Given the description of an element on the screen output the (x, y) to click on. 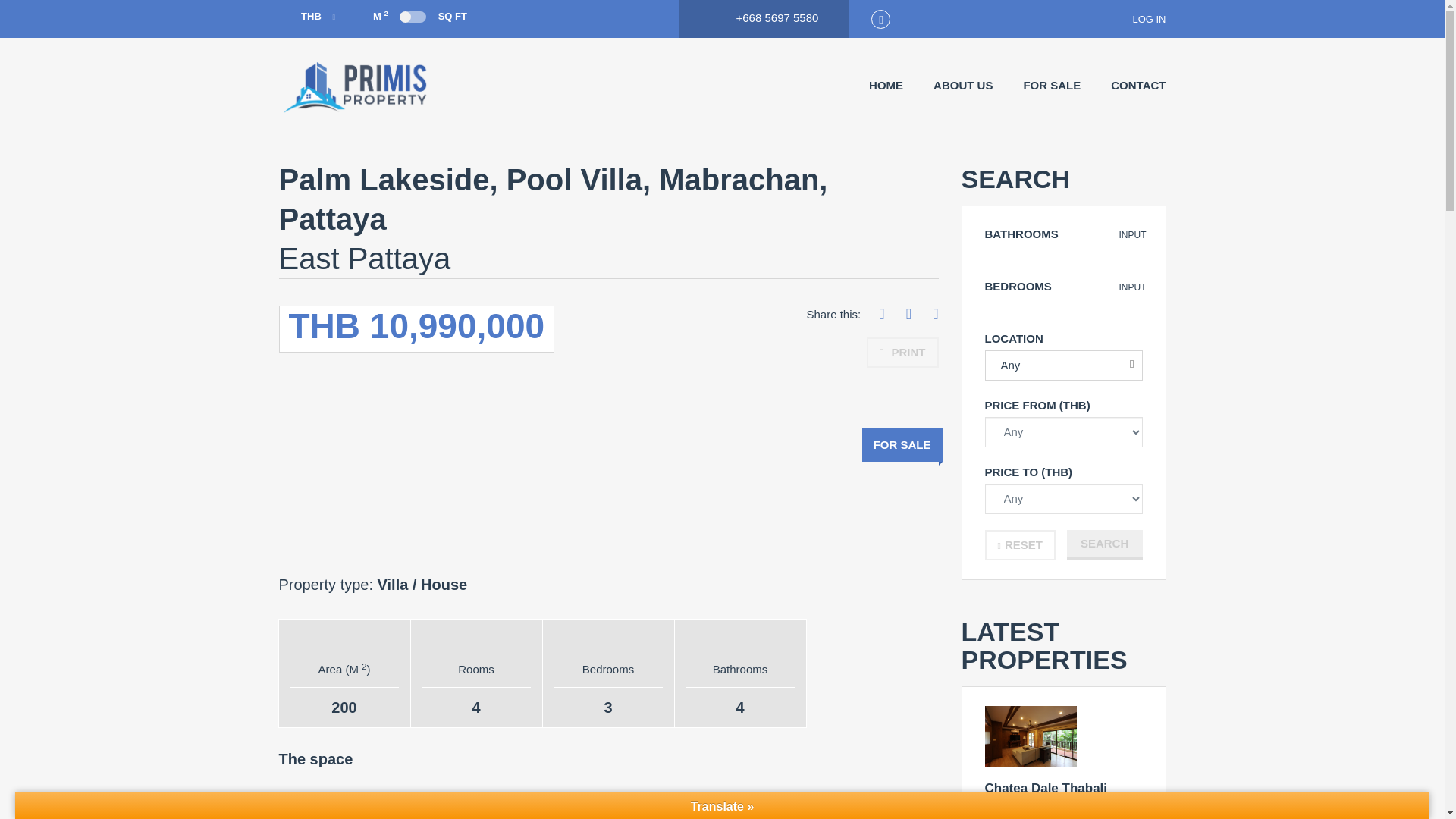
THB (307, 17)
PRINT (901, 352)
Primis Property (354, 87)
HOME (885, 85)
FOR SALE (1051, 85)
CONTACT (1138, 85)
LOG IN (1139, 18)
ABOUT US (962, 85)
